Given the description of an element on the screen output the (x, y) to click on. 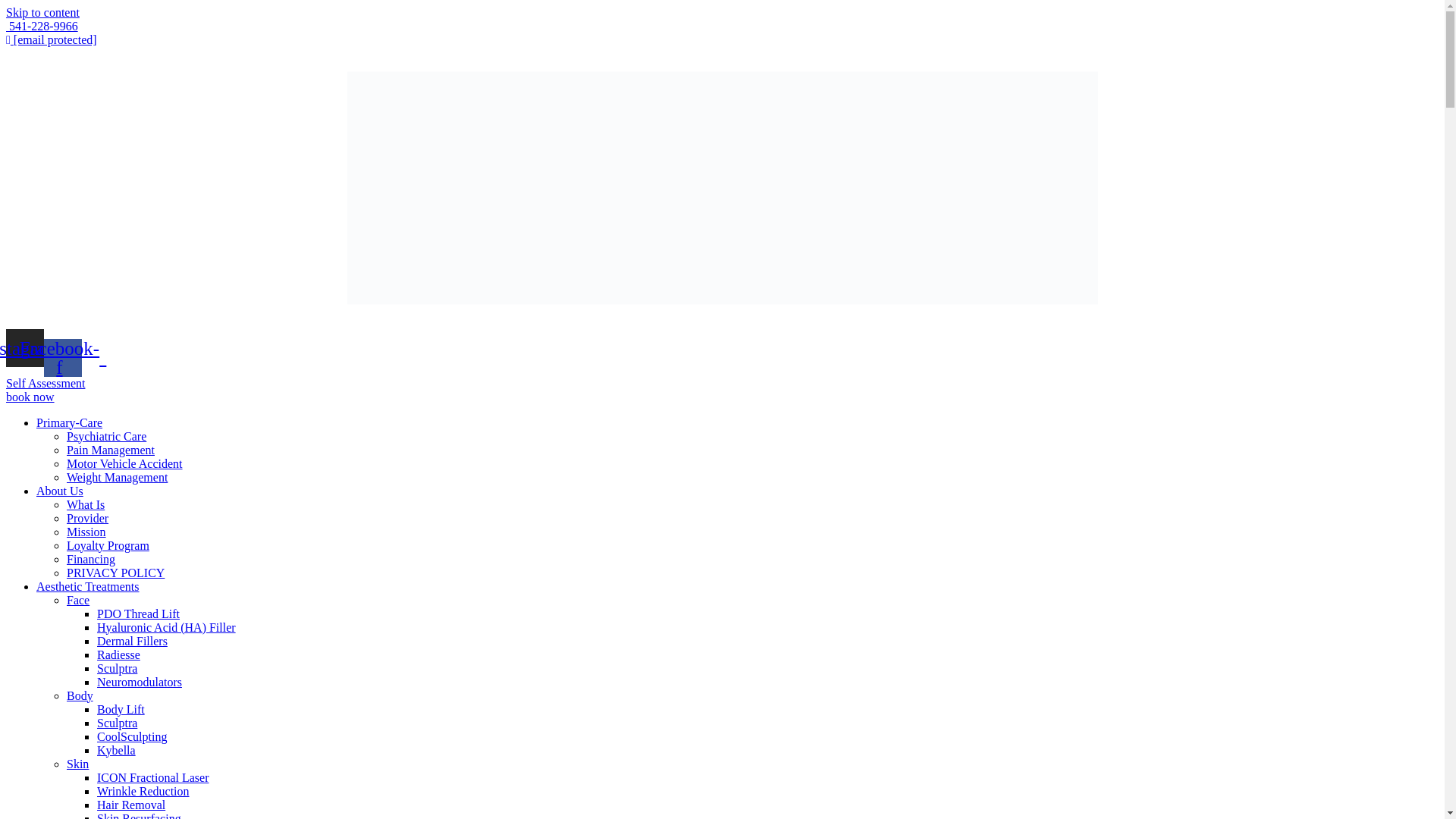
Neuromodulators (139, 680)
Aesthetic Treatments (87, 585)
Facebook-f (62, 356)
About Us (59, 490)
Mission (86, 530)
CoolSculpting (132, 735)
Face (77, 599)
ICON Fractional Laser (153, 776)
Sculptra (116, 721)
Skip to content (42, 11)
